Given the description of an element on the screen output the (x, y) to click on. 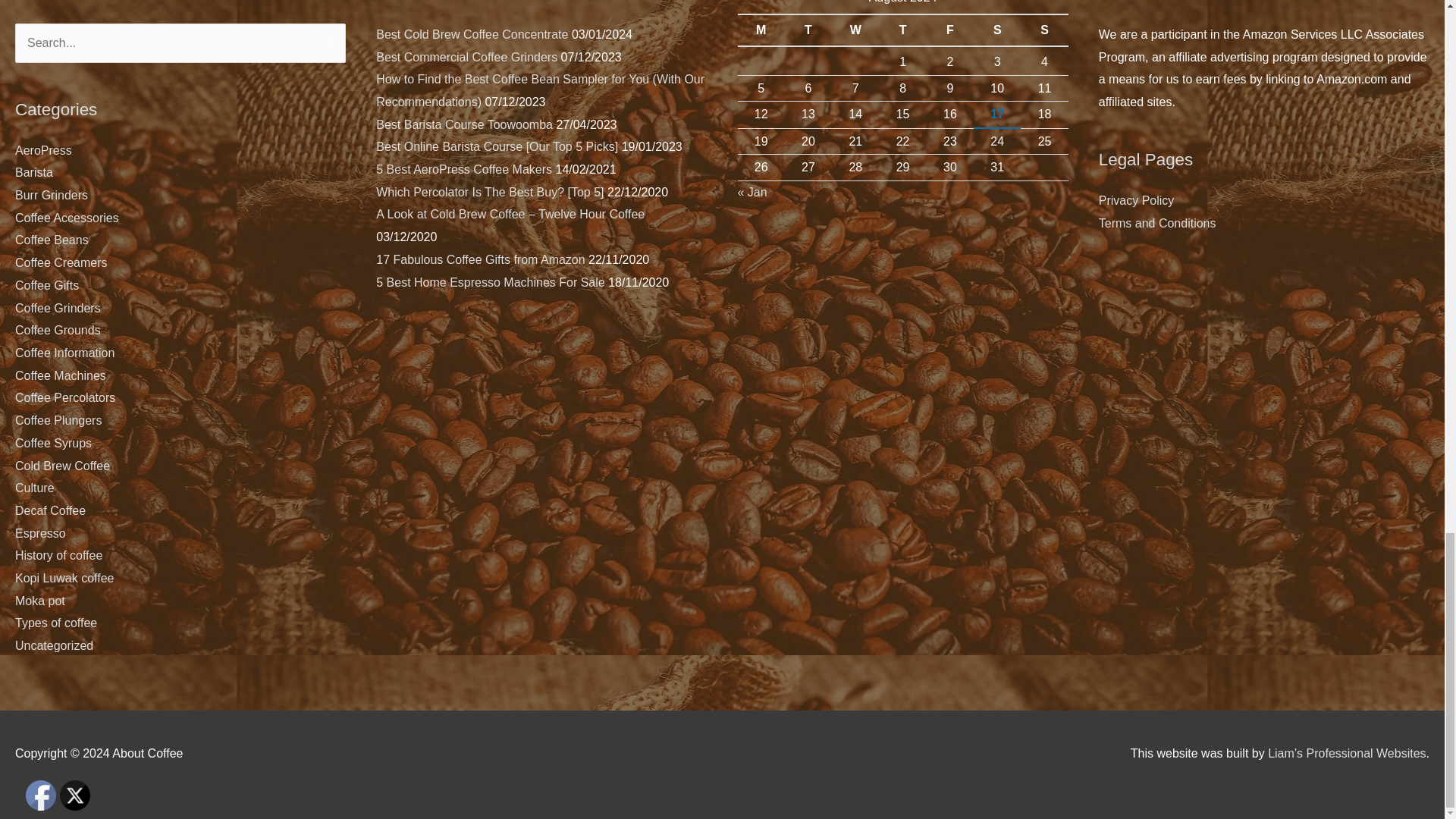
Tuesday (807, 29)
Wednesday (855, 29)
Thursday (902, 29)
Twitter (74, 795)
Monday (760, 29)
Friday (950, 29)
Facebook (41, 795)
Saturday (997, 29)
Sunday (1043, 29)
